Given the description of an element on the screen output the (x, y) to click on. 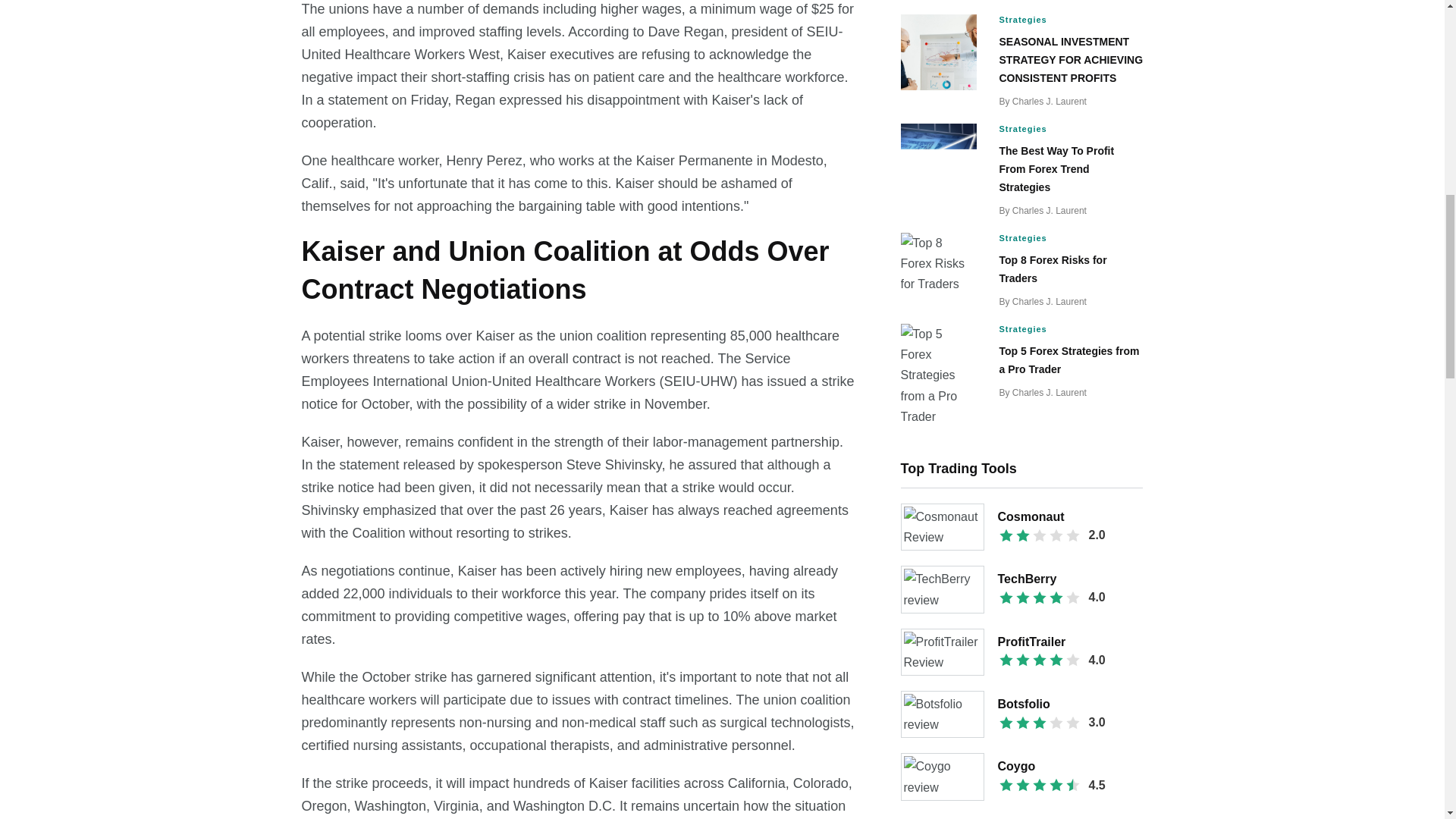
Strategies (1066, 19)
Strategies (1066, 128)
The Best Way To Profit From Forex Trend Strategies (1056, 168)
